Given the description of an element on the screen output the (x, y) to click on. 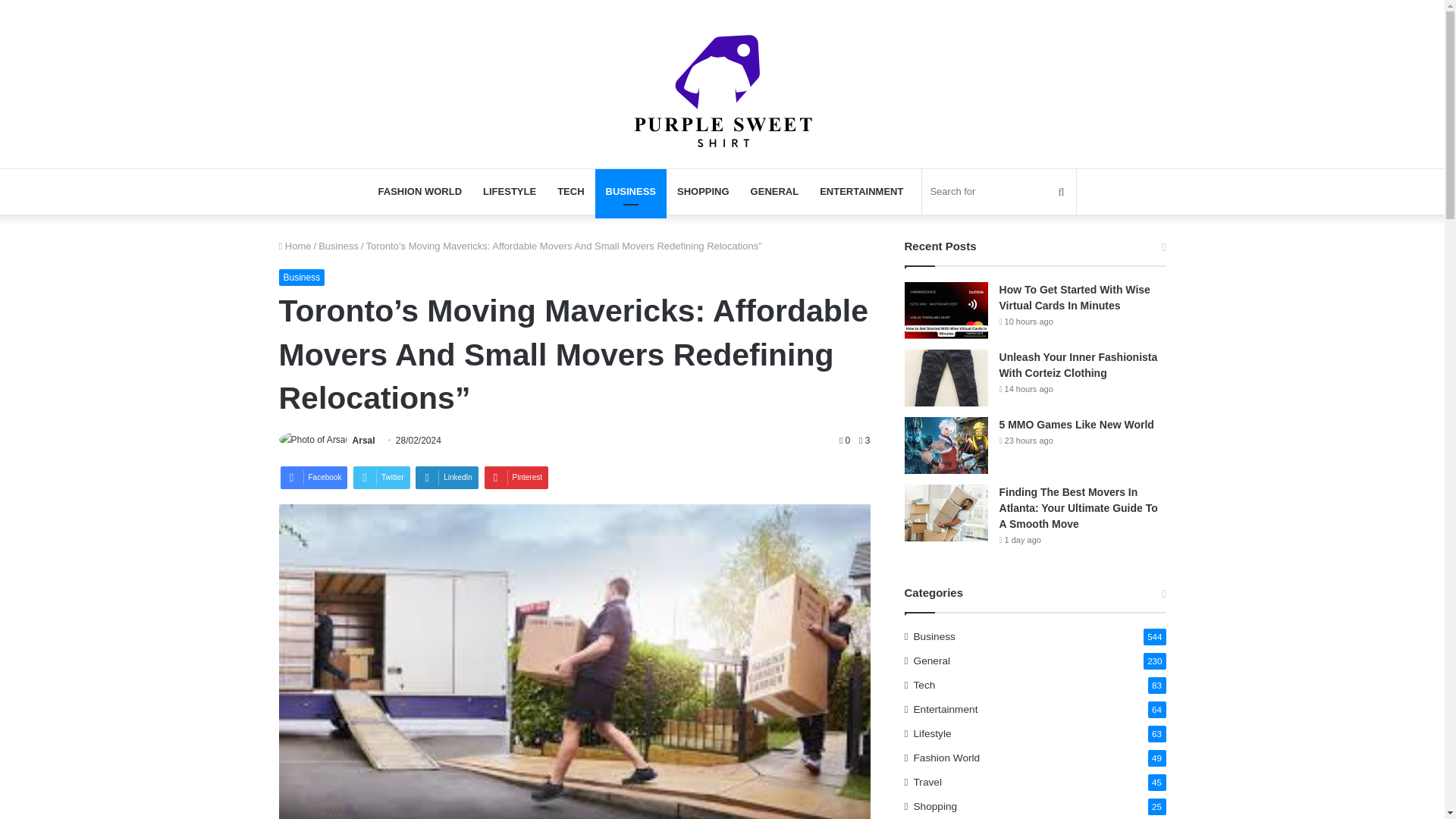
Purple Sweet Shirt (722, 90)
SHOPPING (702, 191)
Pinterest (516, 477)
TECH (570, 191)
Twitter (381, 477)
GENERAL (774, 191)
FASHION WORLD (420, 191)
Search for (998, 191)
Business (338, 245)
Twitter (381, 477)
Facebook (314, 477)
LinkedIn (446, 477)
Arsal (363, 439)
Pinterest (516, 477)
Arsal (363, 439)
